Given the description of an element on the screen output the (x, y) to click on. 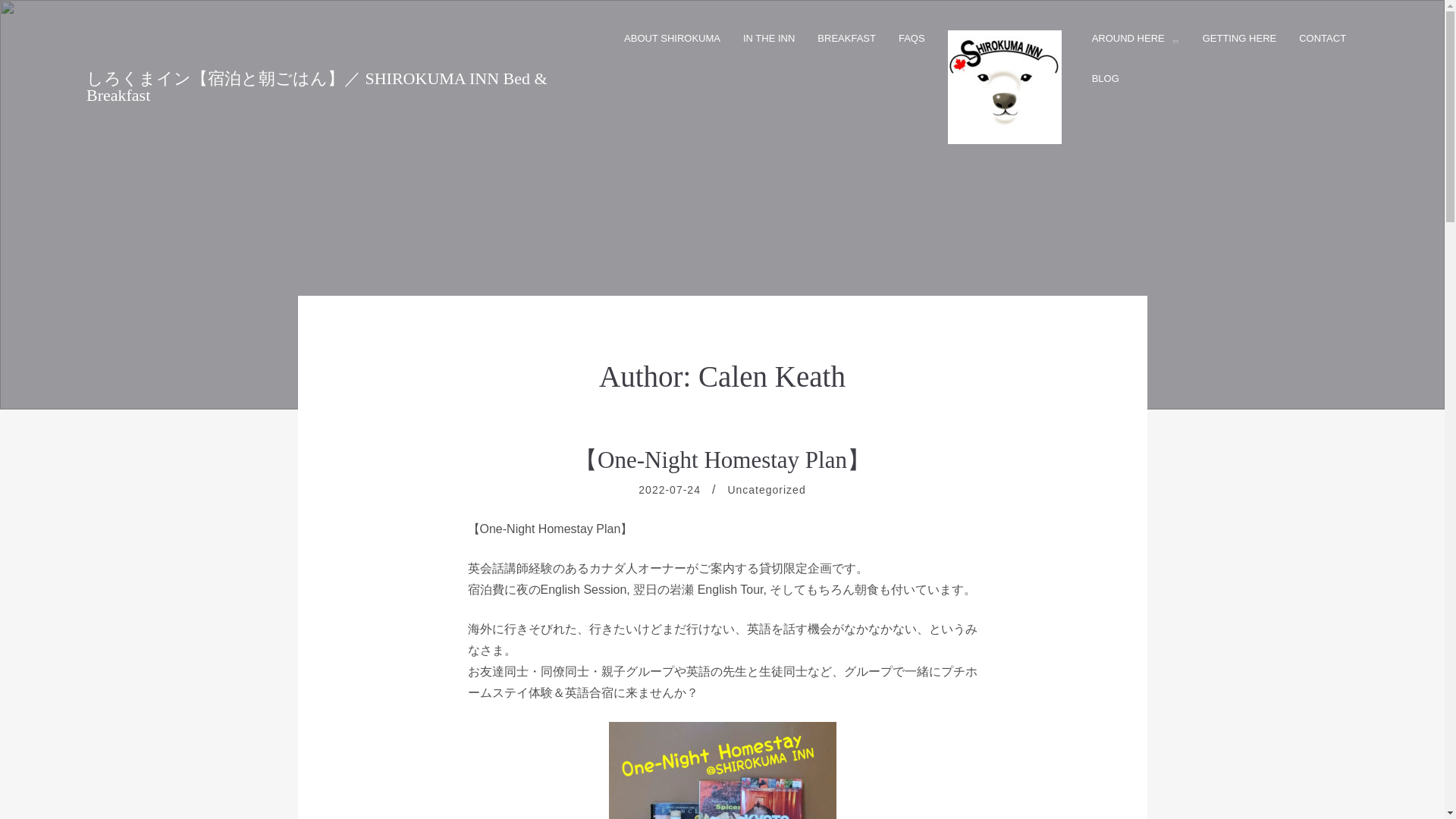
CONTACT (1321, 38)
Uncategorized (765, 490)
GETTING HERE (1239, 38)
ABOUT SHIROKUMA (672, 38)
AROUND HERE (1135, 38)
IN THE INN (768, 38)
2022-07-24 (669, 490)
BREAKFAST (846, 38)
